Given the description of an element on the screen output the (x, y) to click on. 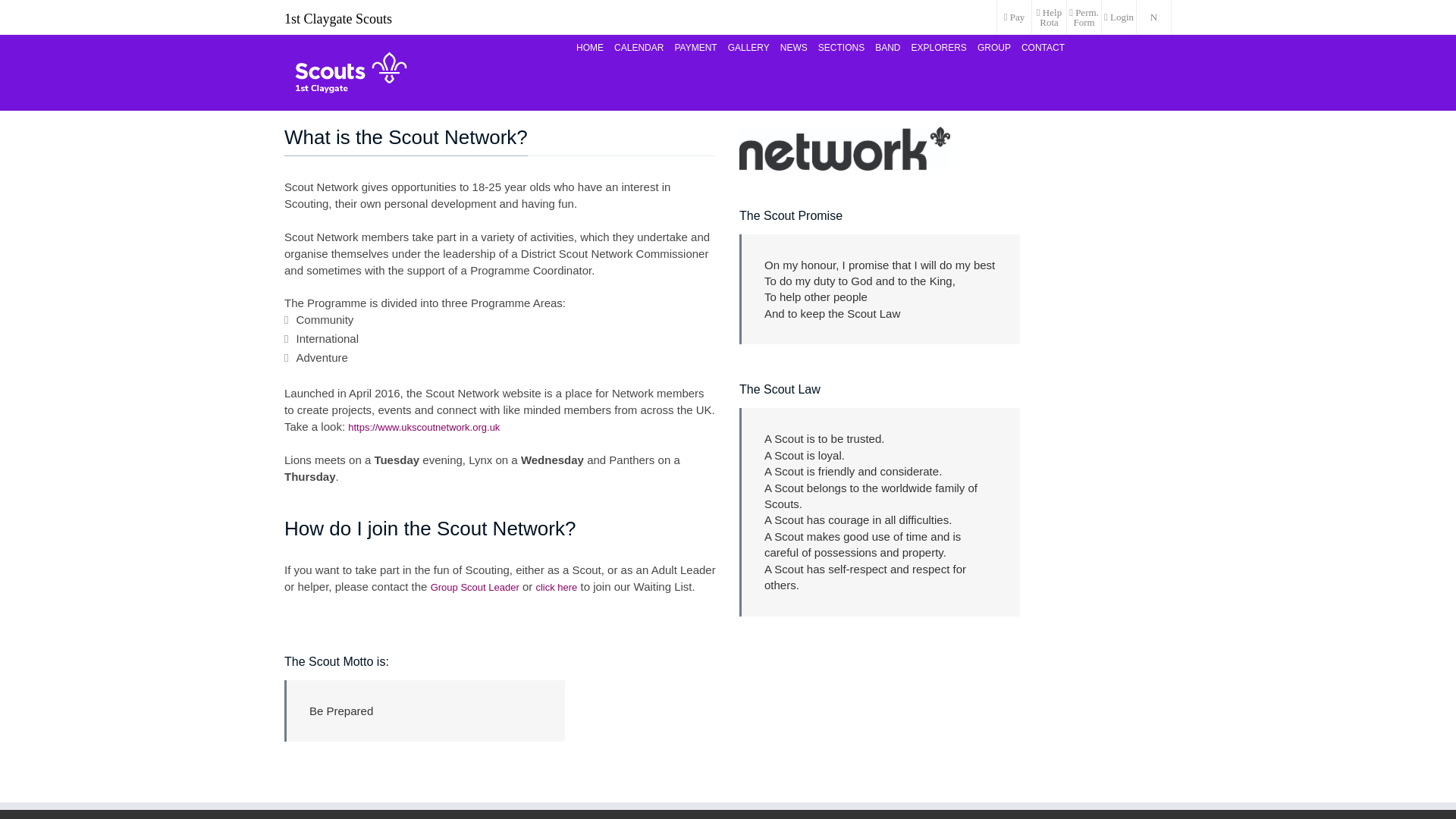
GROUP (994, 47)
GALLERY (748, 47)
Pay (1013, 17)
CALENDAR (638, 47)
SECTIONS (840, 47)
Perm. Form (1083, 17)
Login (1118, 17)
BAND (887, 47)
PAYMENT (695, 47)
EXPLORERS (938, 47)
HOME (589, 47)
Help Rota (1048, 17)
NEWS (793, 47)
1st Claygate Scouts (350, 72)
CONTACT (1043, 47)
